Given the description of an element on the screen output the (x, y) to click on. 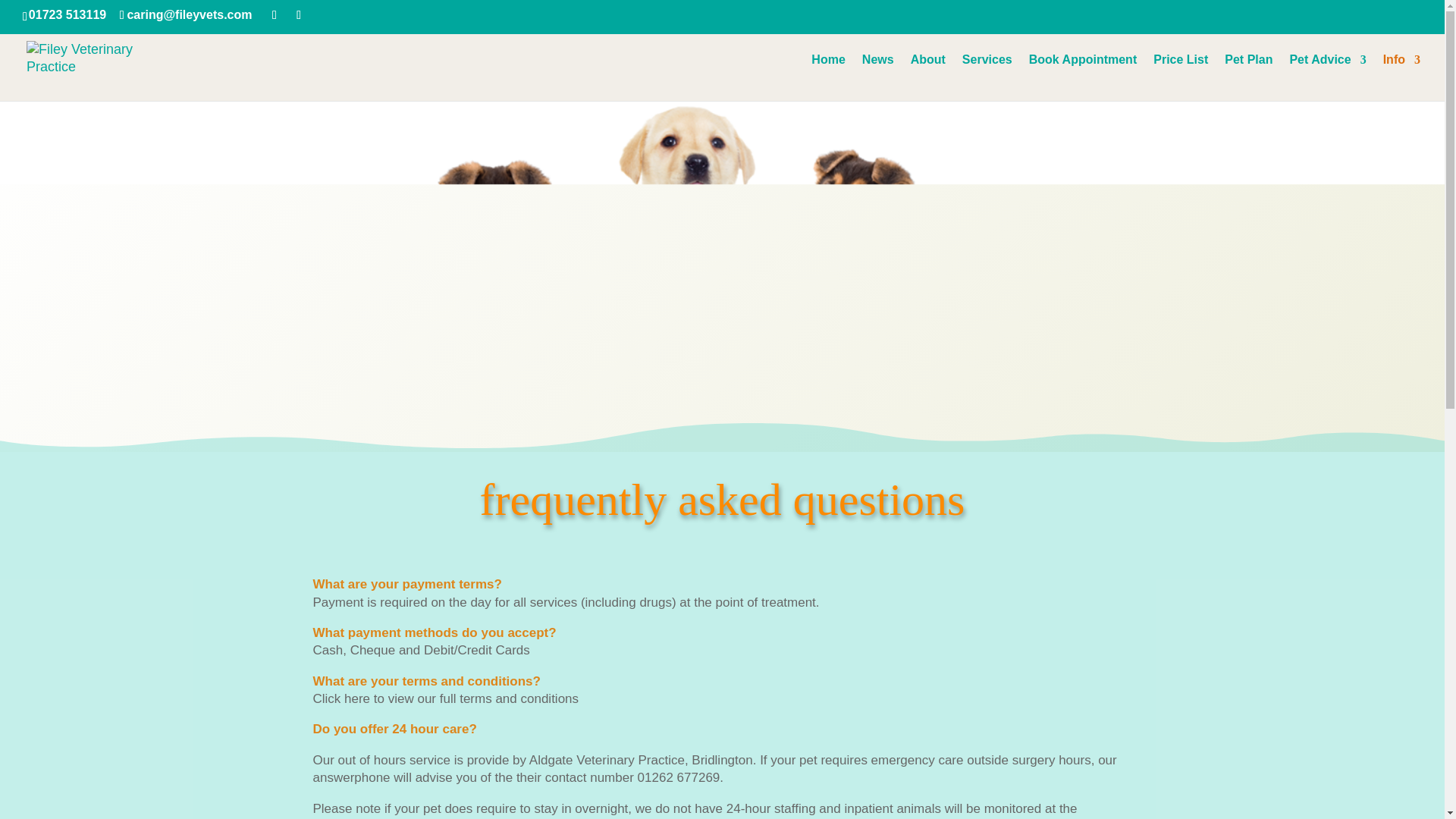
Pet Advice (1326, 75)
Services (986, 75)
Book Appointment (1083, 75)
Price List (1180, 75)
Pet Plan (1248, 75)
